Given the description of an element on the screen output the (x, y) to click on. 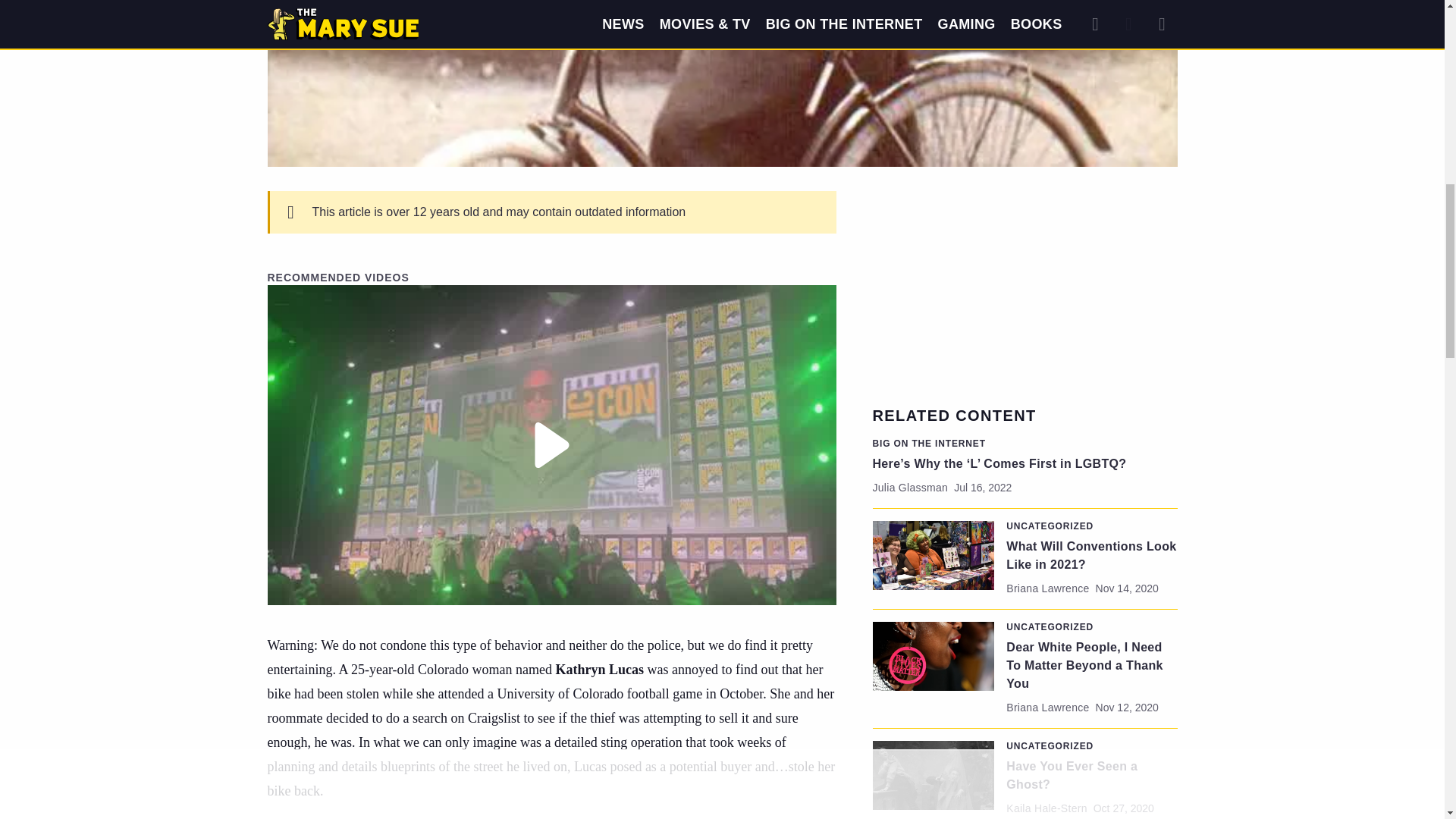
3rd party ad content (1024, 285)
